Given the description of an element on the screen output the (x, y) to click on. 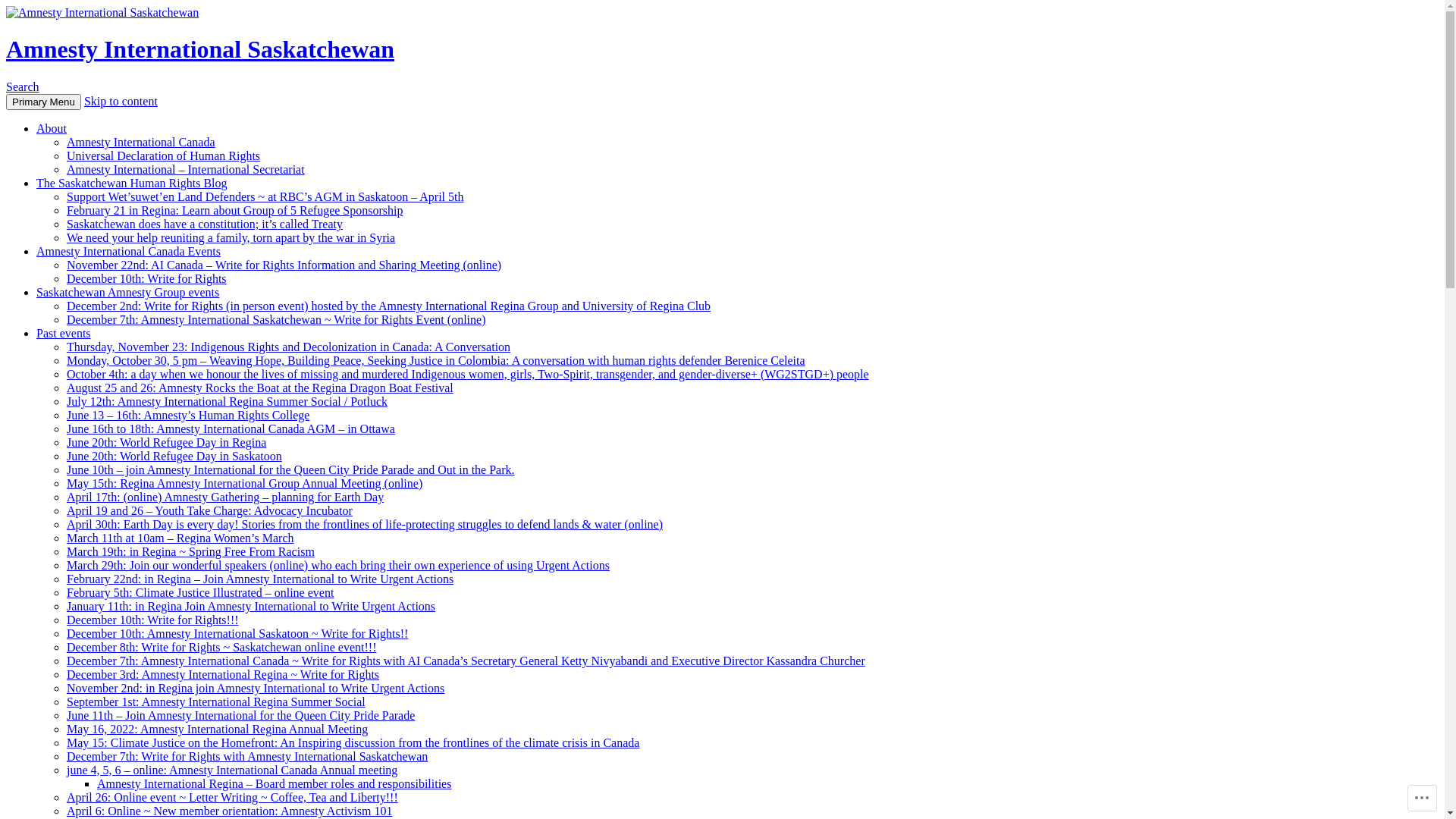
May 16, 2022: Amnesty International Regina Annual Meeting Element type: text (216, 728)
Amnesty International Canada Element type: text (140, 141)
Search Element type: text (22, 86)
June 20th: World Refugee Day in Regina Element type: text (166, 442)
December 10th: Write for Rights!!! Element type: text (152, 619)
Saskatchewan Amnesty Group events Element type: text (127, 291)
September 1st: Amnesty International Regina Summer Social Element type: text (215, 701)
Past events Element type: text (63, 332)
December 10th: Write for Rights Element type: text (146, 278)
Skip to content Element type: text (120, 100)
March 19th: in Regina ~ Spring Free From Racism Element type: text (190, 551)
Universal Declaration of Human Rights Element type: text (163, 155)
June 20th: World Refugee Day in Saskatoon Element type: text (174, 455)
About Element type: text (51, 128)
Amnesty International Canada Events Element type: text (128, 250)
Primary Menu Element type: text (43, 101)
The Saskatchewan Human Rights Blog Element type: text (131, 182)
Amnesty International Saskatchewan Element type: text (200, 48)
